Given the description of an element on the screen output the (x, y) to click on. 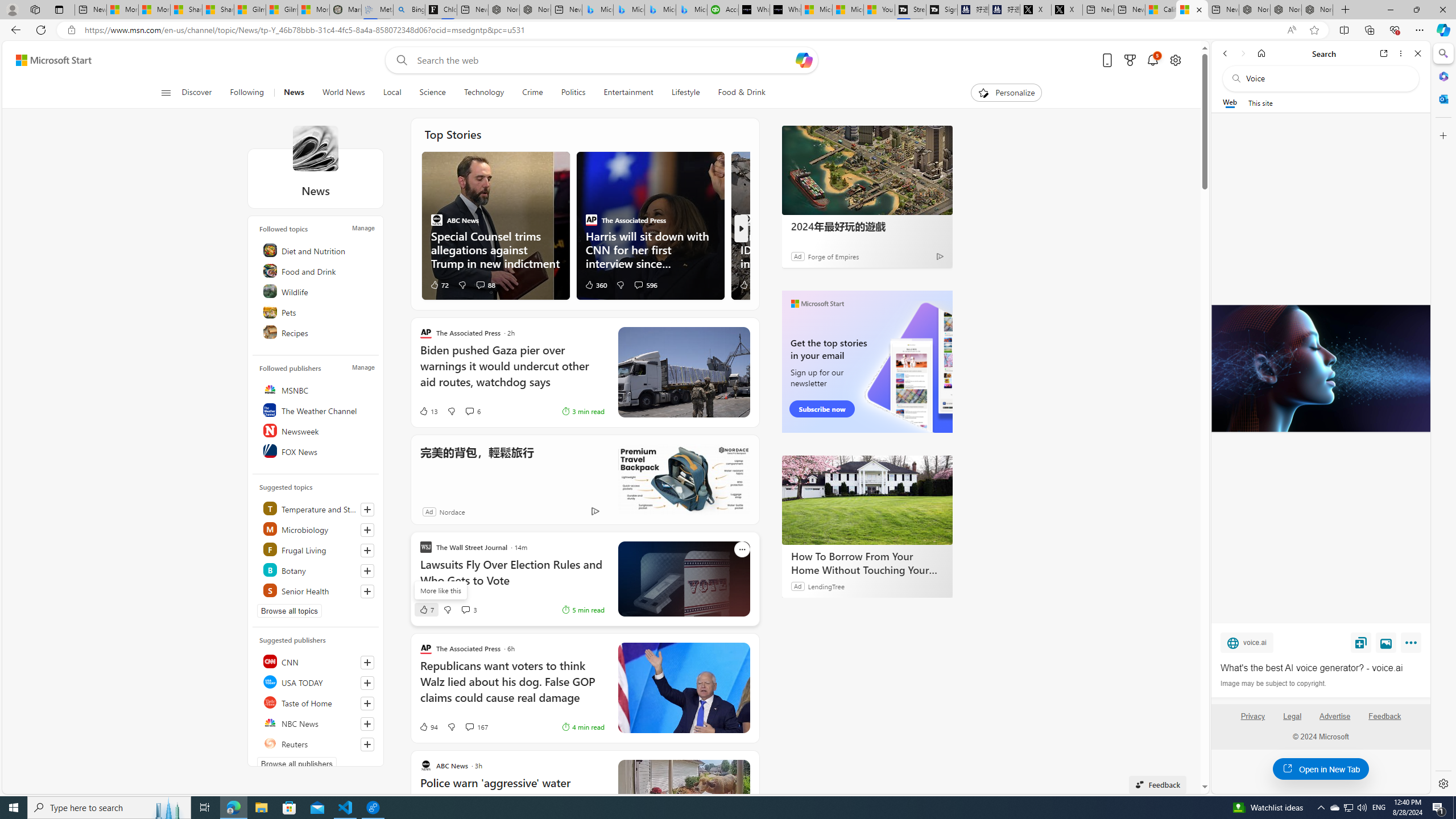
Entertainment (627, 92)
Recipes (317, 331)
Bing Real Estate - Home sales and rental listings (408, 9)
13 Like (427, 410)
Notifications (1152, 60)
Save (1361, 642)
News (314, 148)
Skip to content (49, 59)
Nordace Siena Pro 15 Backpack (1285, 9)
Science (432, 92)
